Given the description of an element on the screen output the (x, y) to click on. 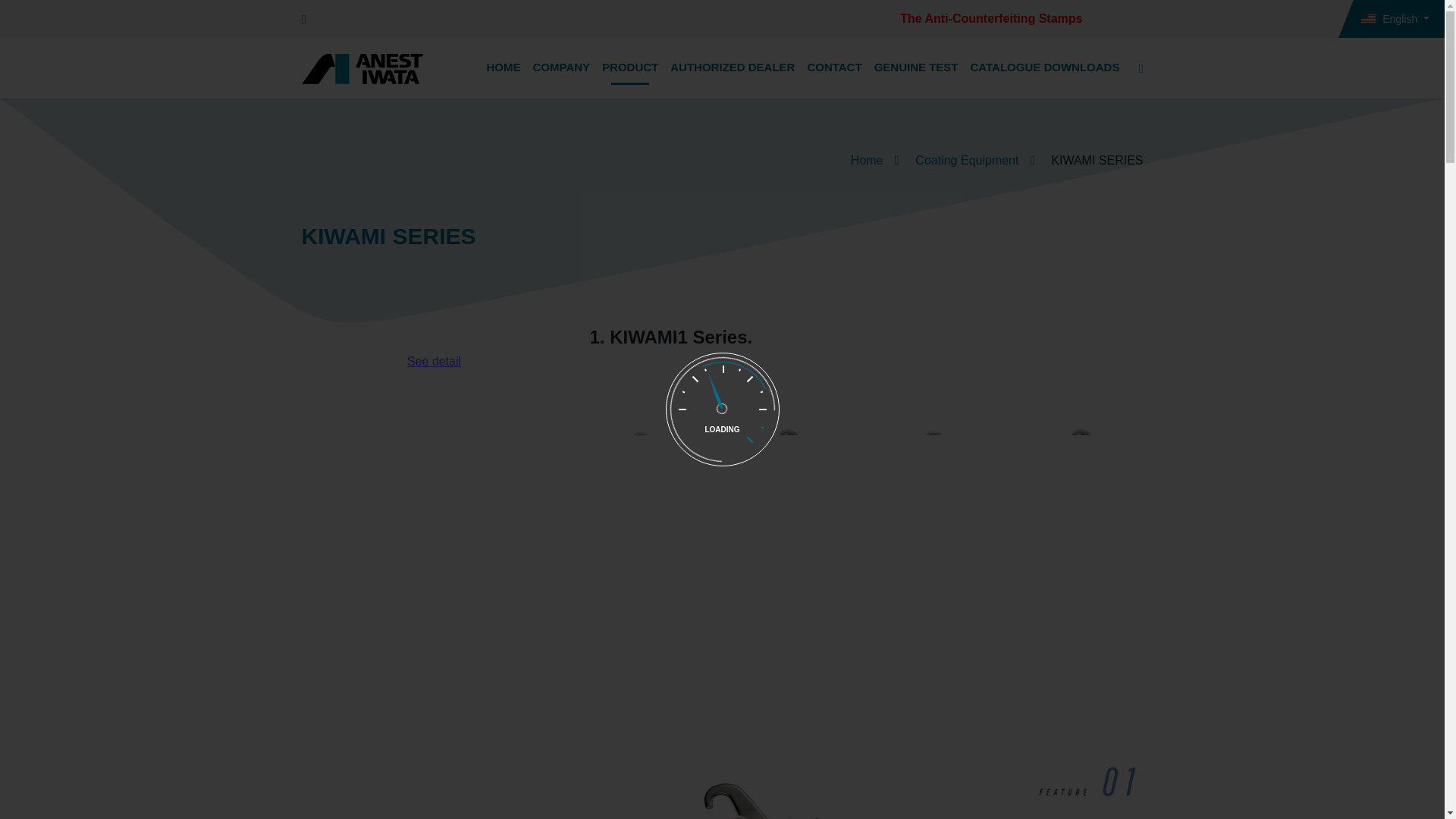
Catalogue downloads (1044, 67)
CONTACT (833, 67)
The Anti-Counterfeiting Stamps (990, 18)
Genuine test (915, 67)
Anest Iwata Vietnam (362, 69)
Home (866, 160)
Home (866, 160)
AUTHORIZED DEALER (731, 67)
See detail (434, 361)
GENUINE TEST (915, 67)
Contact (833, 67)
Product (629, 67)
Company (560, 67)
Coating Equipment (966, 160)
PRODUCT (629, 67)
